Given the description of an element on the screen output the (x, y) to click on. 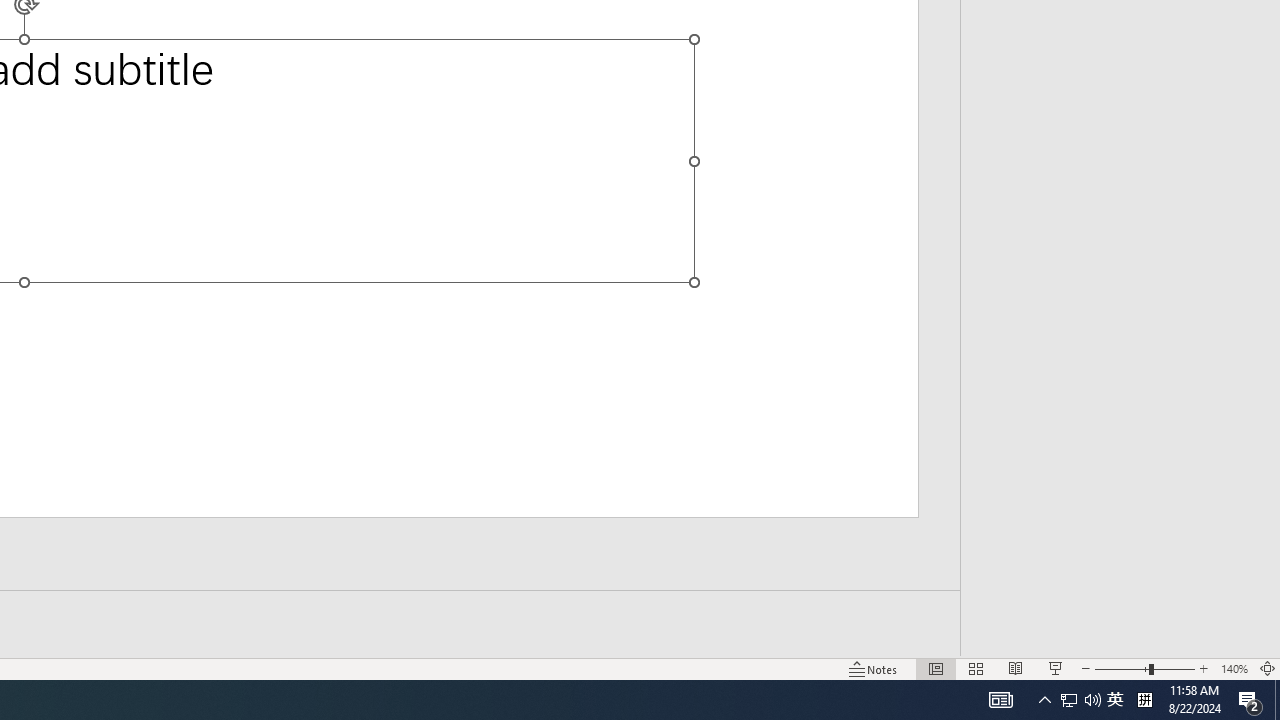
Zoom 140% (1234, 668)
